Given the description of an element on the screen output the (x, y) to click on. 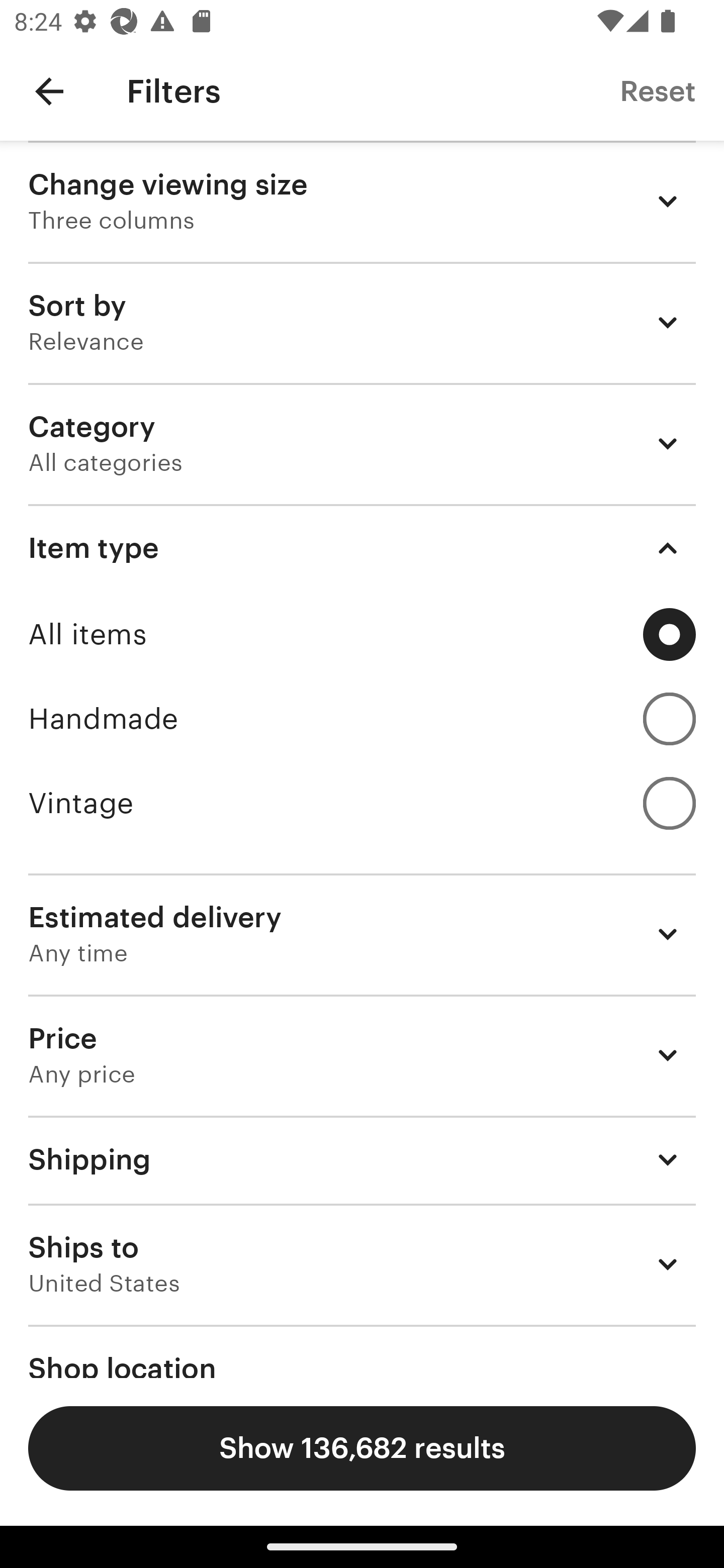
Navigate up (49, 91)
Reset (657, 90)
Change viewing size Three columns (362, 201)
Sort by Relevance (362, 321)
Category All categories (362, 442)
Item type (362, 547)
All items (362, 633)
Handmade (362, 717)
Vintage (362, 802)
Estimated delivery Any time (362, 933)
Price Any price (362, 1055)
Shipping (362, 1160)
Ships to United States (362, 1264)
Shop location (362, 1351)
Show 136,682 results Show results (361, 1448)
